Given the description of an element on the screen output the (x, y) to click on. 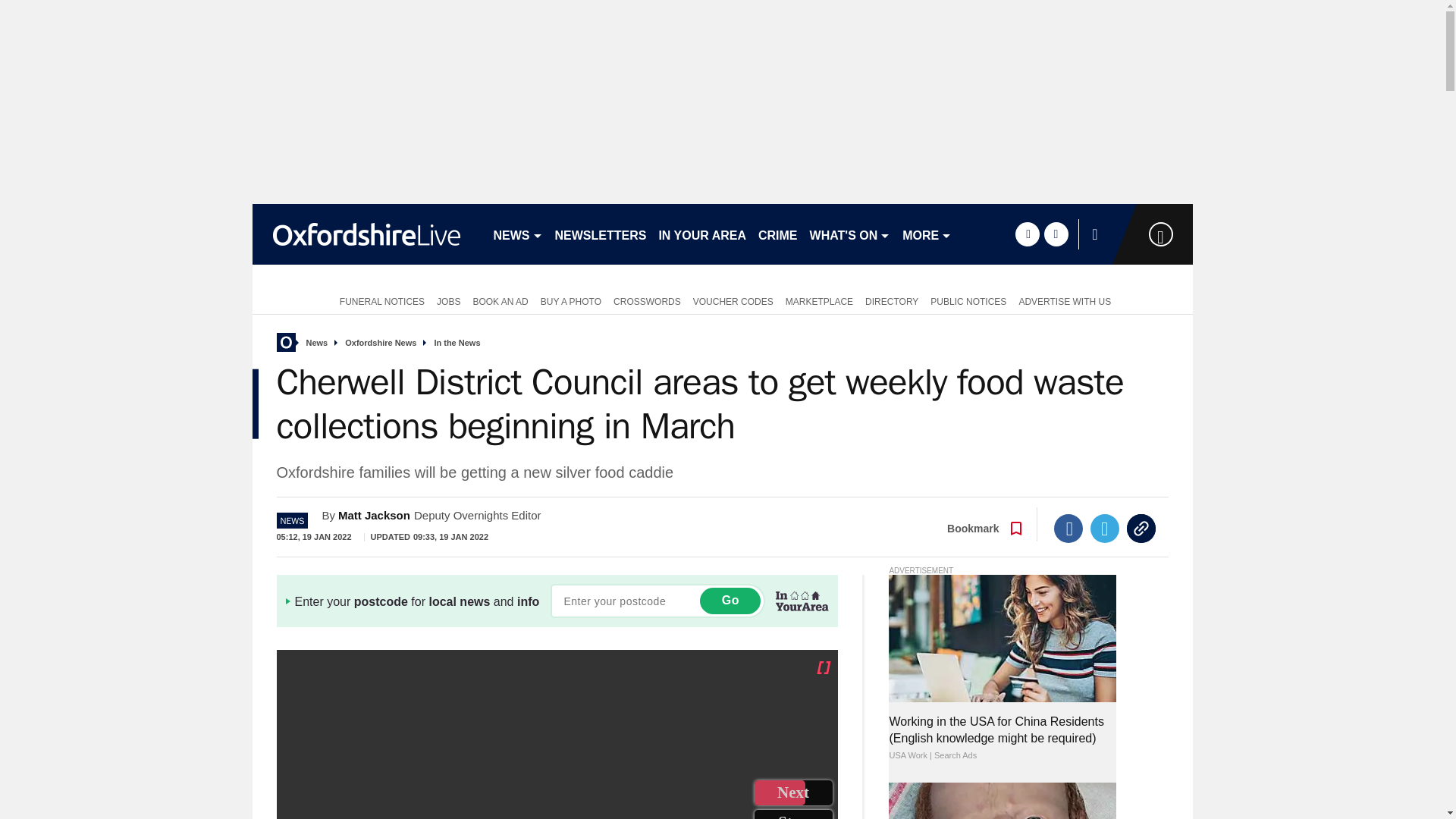
CROSSWORDS (647, 300)
MARKETPLACE (818, 300)
Twitter (1104, 528)
MORE (927, 233)
PUBLIC NOTICES (967, 300)
NEWS (517, 233)
WHAT'S ON (849, 233)
Go (730, 601)
JOBS (447, 300)
VOUCHER CODES (732, 300)
BOOK AN AD (499, 300)
Facebook (1068, 528)
IN YOUR AREA (702, 233)
Oxfordshire News (380, 343)
